Given the description of an element on the screen output the (x, y) to click on. 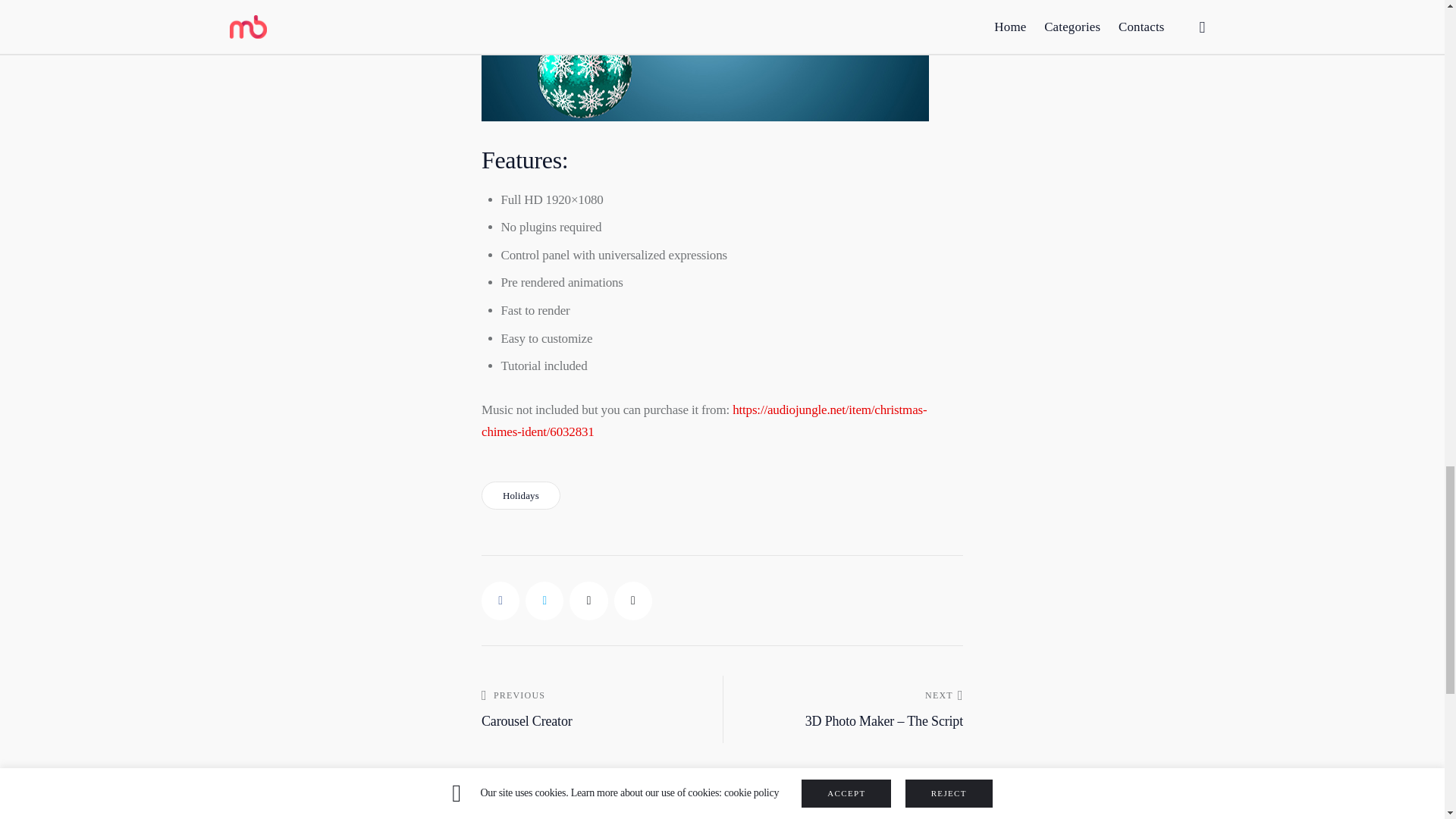
Copy URL to clipboard (633, 600)
